Given the description of an element on the screen output the (x, y) to click on. 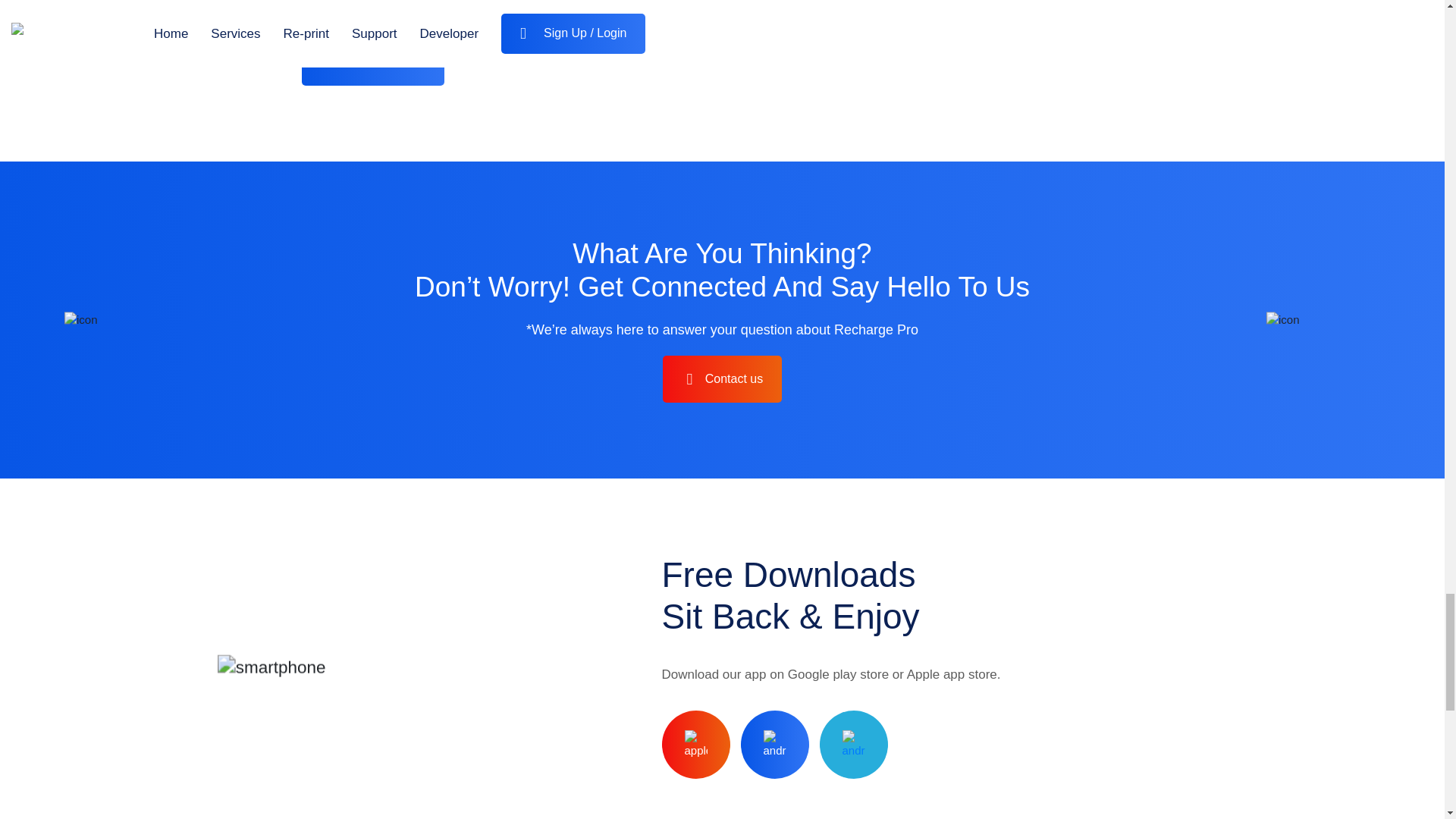
Contact us (721, 379)
Download Now (373, 62)
